Given the description of an element on the screen output the (x, y) to click on. 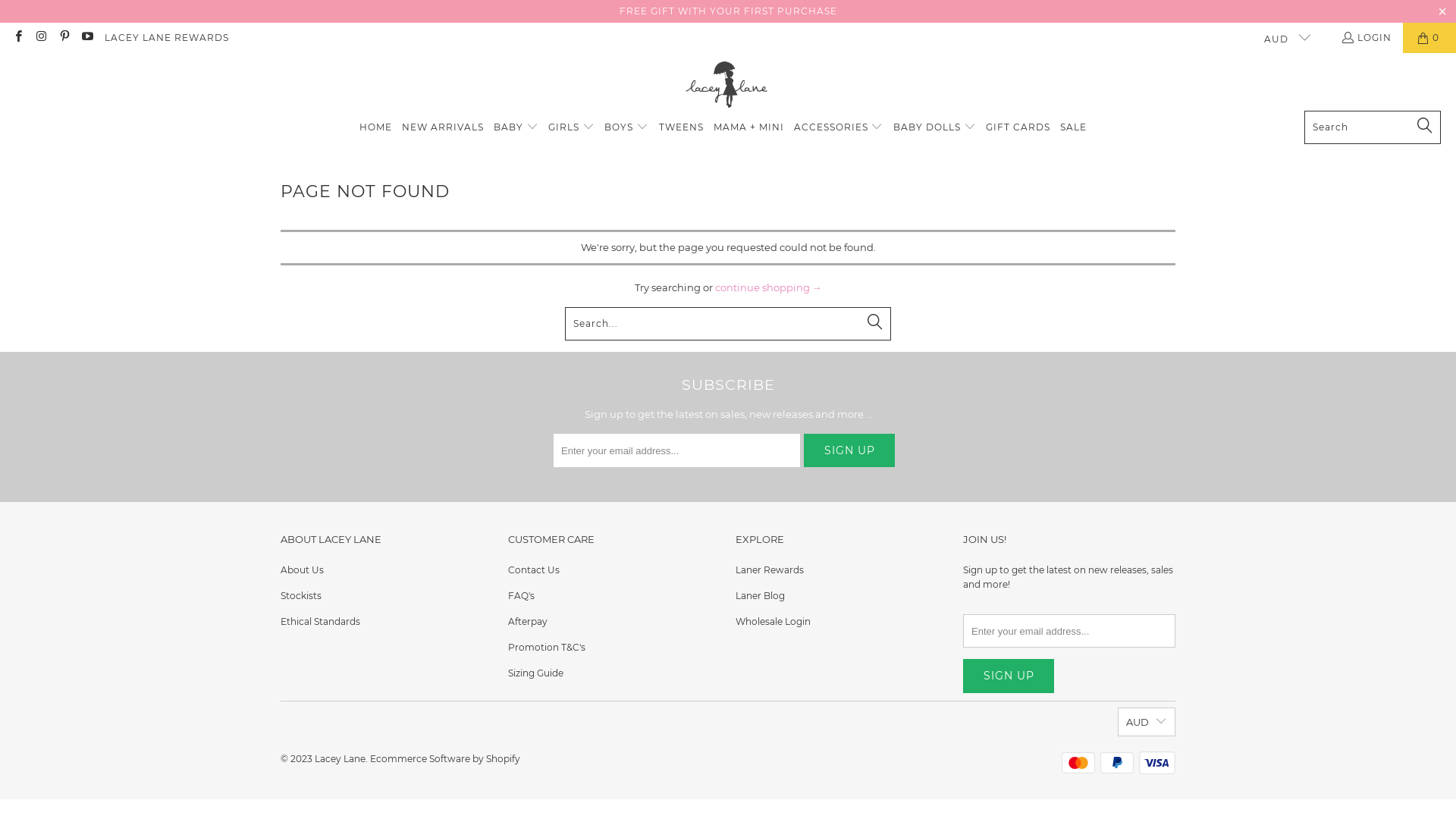
Sizing Guide Element type: text (535, 672)
SALE Element type: text (1073, 127)
Contact Us Element type: text (533, 569)
MAMA + MINI Element type: text (748, 127)
Laner Blog Element type: text (759, 595)
Lacey Lane Element type: hover (727, 85)
AUD Element type: text (1280, 37)
Lacey Lane on YouTube Element type: hover (86, 37)
Lacey Lane on Instagram Element type: hover (40, 37)
Stockists Element type: text (300, 595)
Lacey Lane on Facebook Element type: hover (17, 37)
Ecommerce Software by Shopify Element type: text (445, 758)
Wholesale Login Element type: text (772, 621)
GIFT CARDS Element type: text (1017, 127)
AUD Element type: text (1146, 721)
TWEENS Element type: text (680, 127)
About Us Element type: text (301, 569)
Afterpay Element type: text (527, 621)
LOGIN Element type: text (1365, 38)
Laner Rewards Element type: text (769, 569)
Lacey Lane Element type: text (339, 758)
Promotion T&C's Element type: text (546, 646)
Sign Up Element type: text (848, 450)
Sign Up Element type: text (1008, 675)
NEW ARRIVALS Element type: text (442, 127)
FAQ's Element type: text (521, 595)
HOME Element type: text (375, 127)
Lacey Lane on Pinterest Element type: hover (63, 37)
Ethical Standards Element type: text (320, 621)
